Given the description of an element on the screen output the (x, y) to click on. 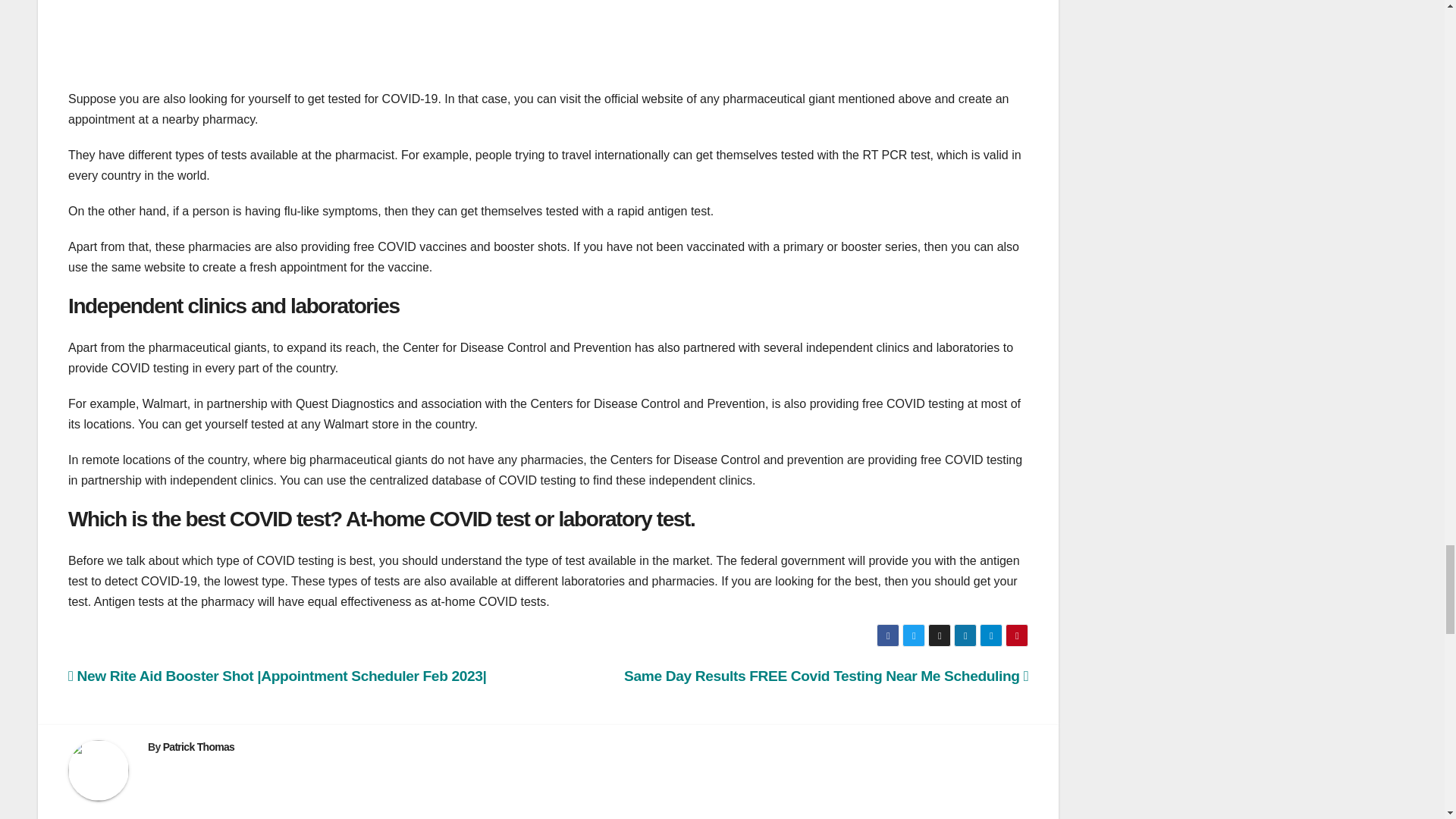
Same Day Results FREE Covid Testing Near Me Scheduling (825, 675)
Patrick Thomas (198, 746)
